Given the description of an element on the screen output the (x, y) to click on. 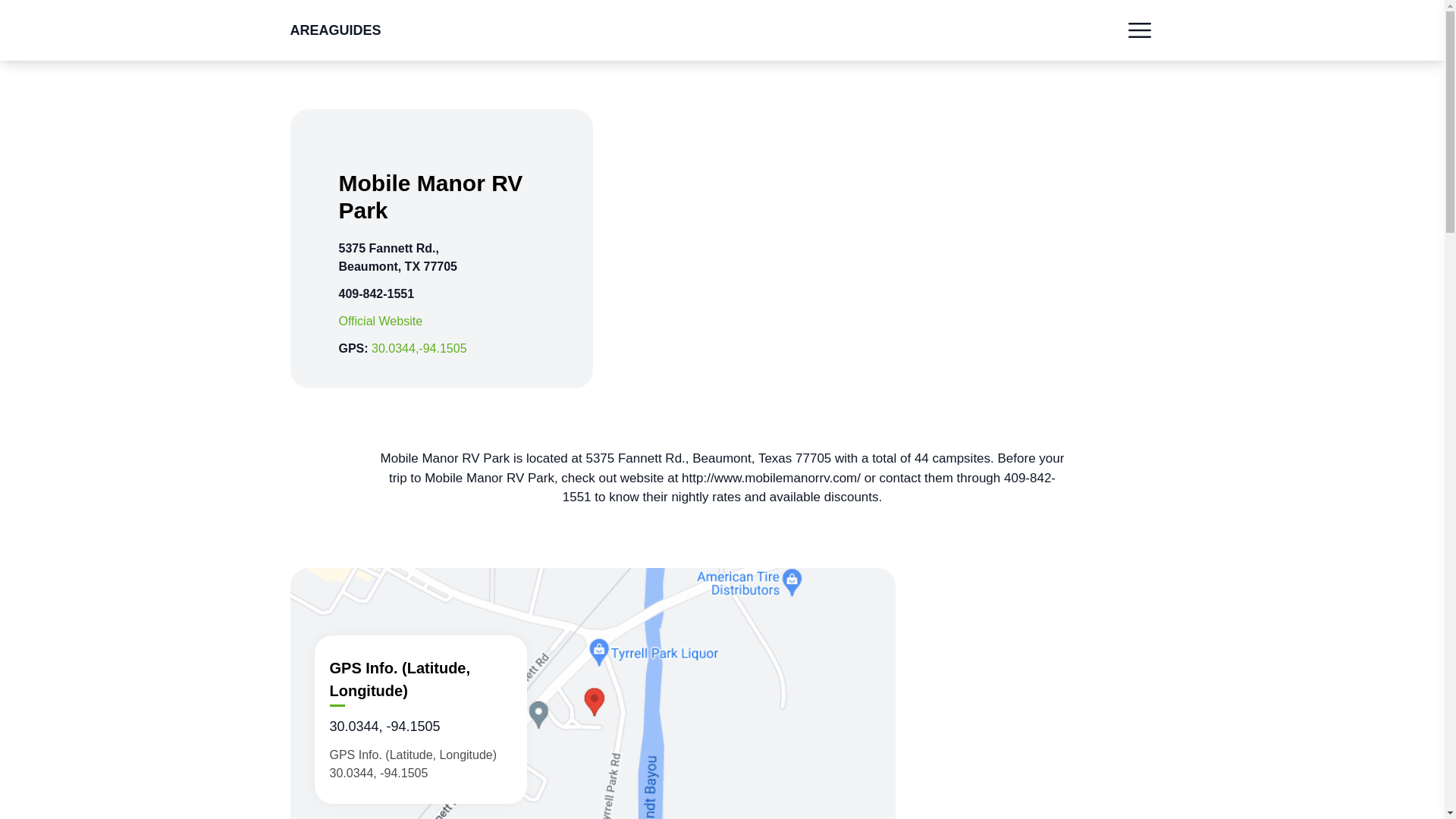
Official Website (379, 320)
AREAGUIDES (334, 29)
30.0344,-94.1505 (418, 348)
